Given the description of an element on the screen output the (x, y) to click on. 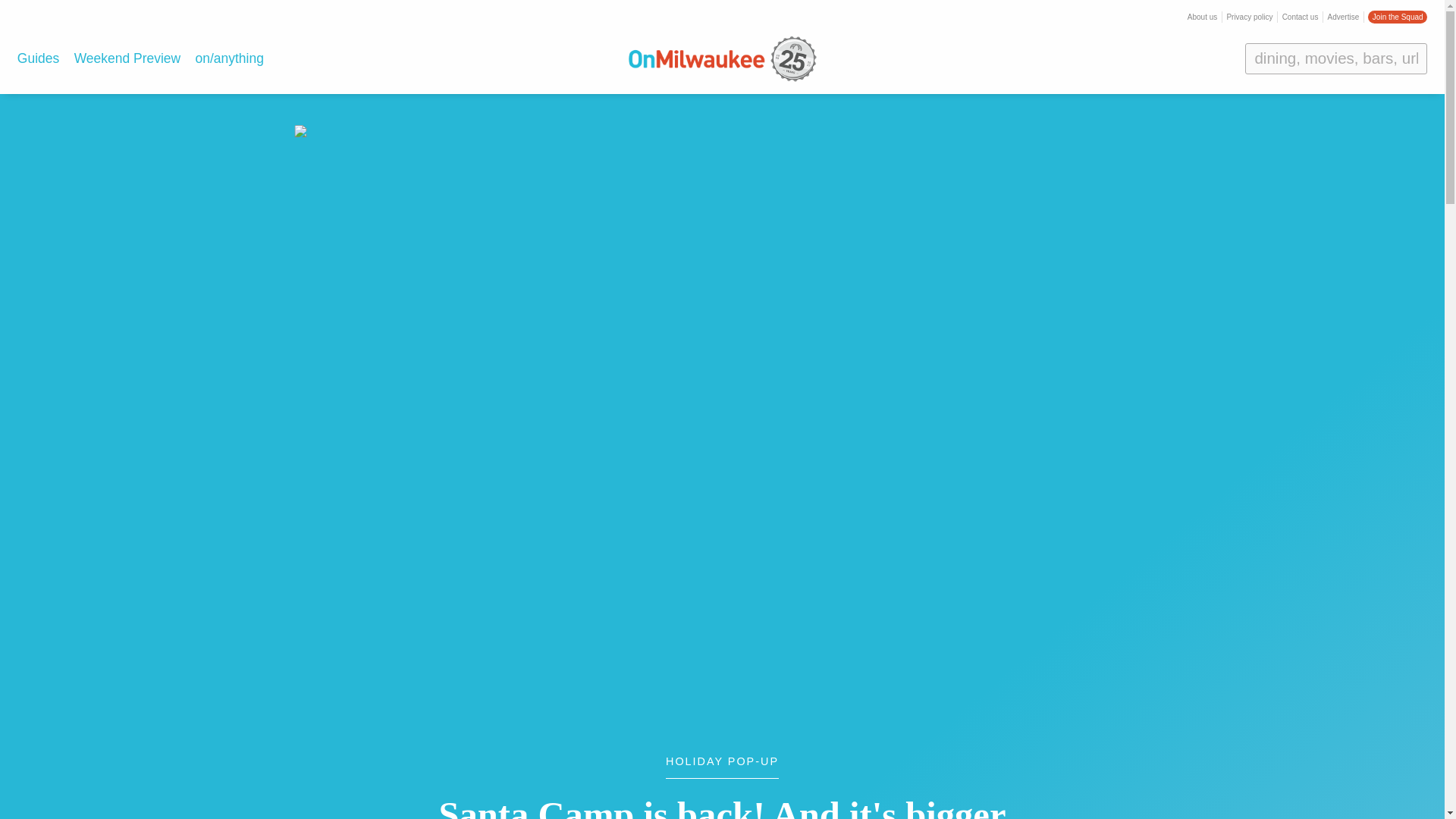
HOLIDAY POP-UP (721, 766)
Privacy policy (1248, 17)
Weekend Preview (127, 58)
Contact us (1300, 17)
dining, movies, bars, urban spelunking (1335, 58)
dining, movies, bars, urban spelunking (1335, 58)
Join the Squad (1397, 16)
Advertise (1343, 17)
About us (1202, 17)
Guides (38, 58)
